Given the description of an element on the screen output the (x, y) to click on. 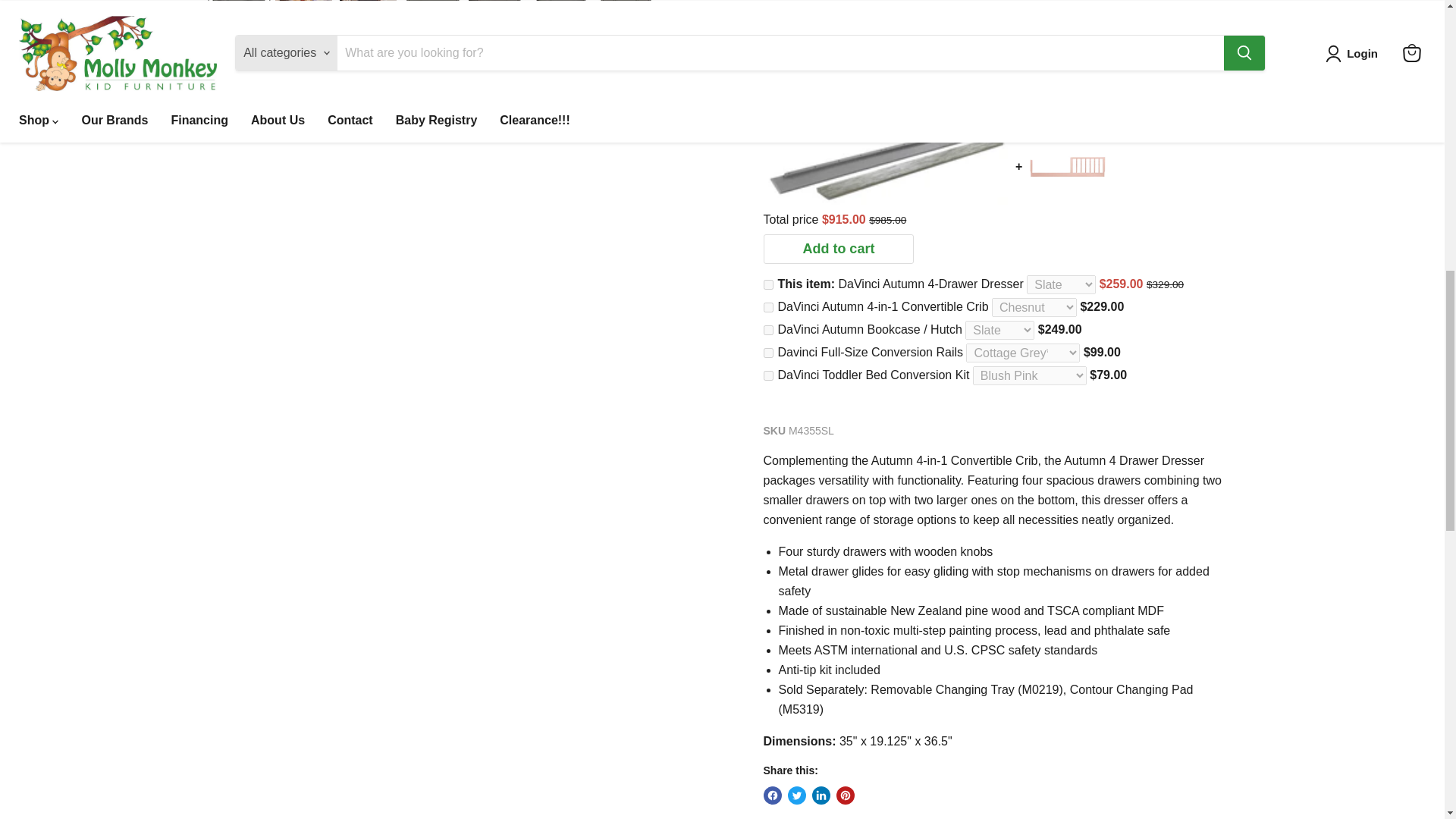
on (767, 352)
on (767, 375)
on (767, 284)
on (767, 329)
on (767, 307)
